Given the description of an element on the screen output the (x, y) to click on. 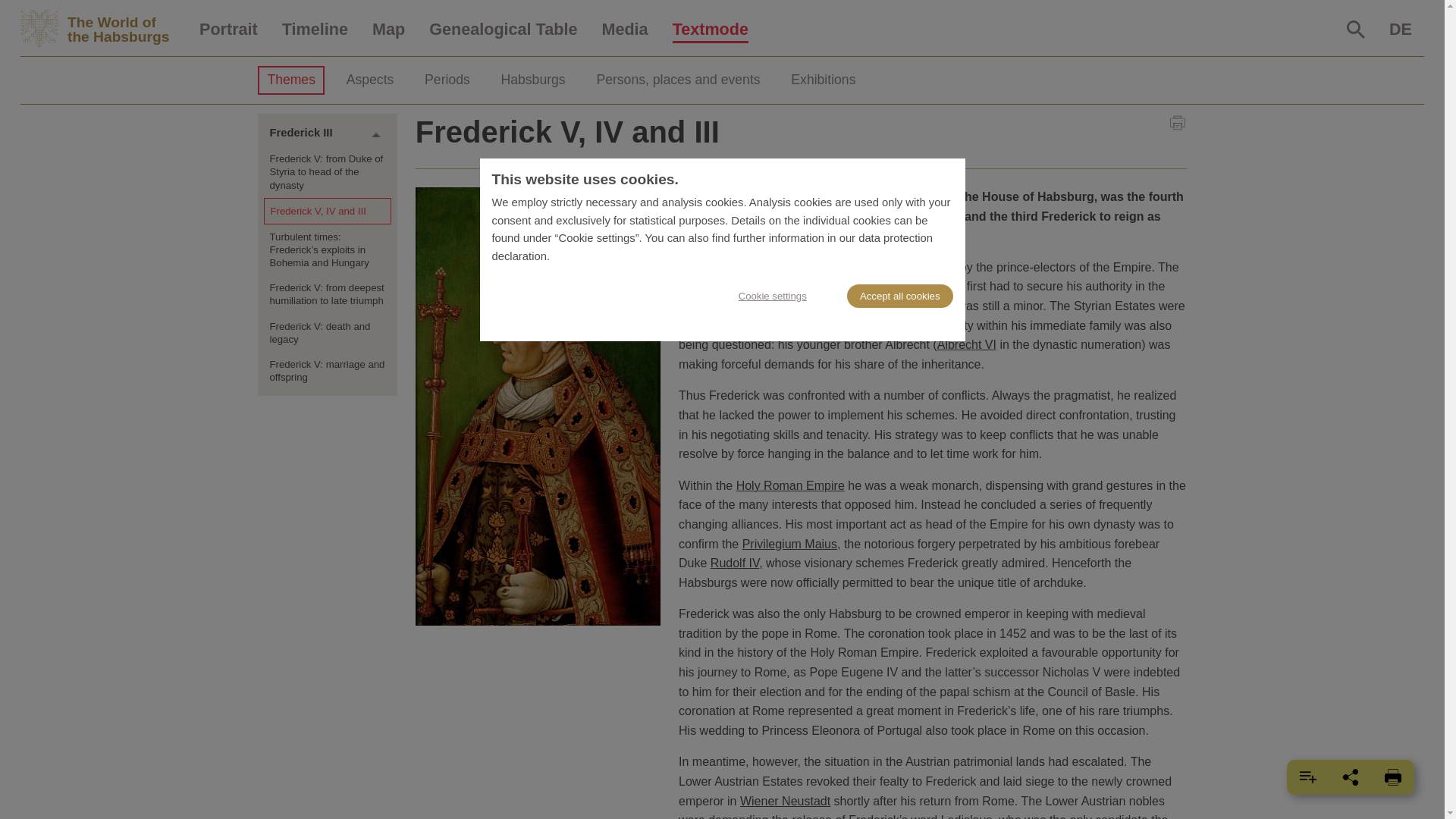
Toggle menu (376, 134)
Genealogical Table (502, 29)
Map (387, 29)
Media (624, 29)
DE (1400, 29)
Timeline (314, 29)
search (1355, 29)
Portrait (228, 29)
Die Welt der Habsburger Home (103, 29)
